Given the description of an element on the screen output the (x, y) to click on. 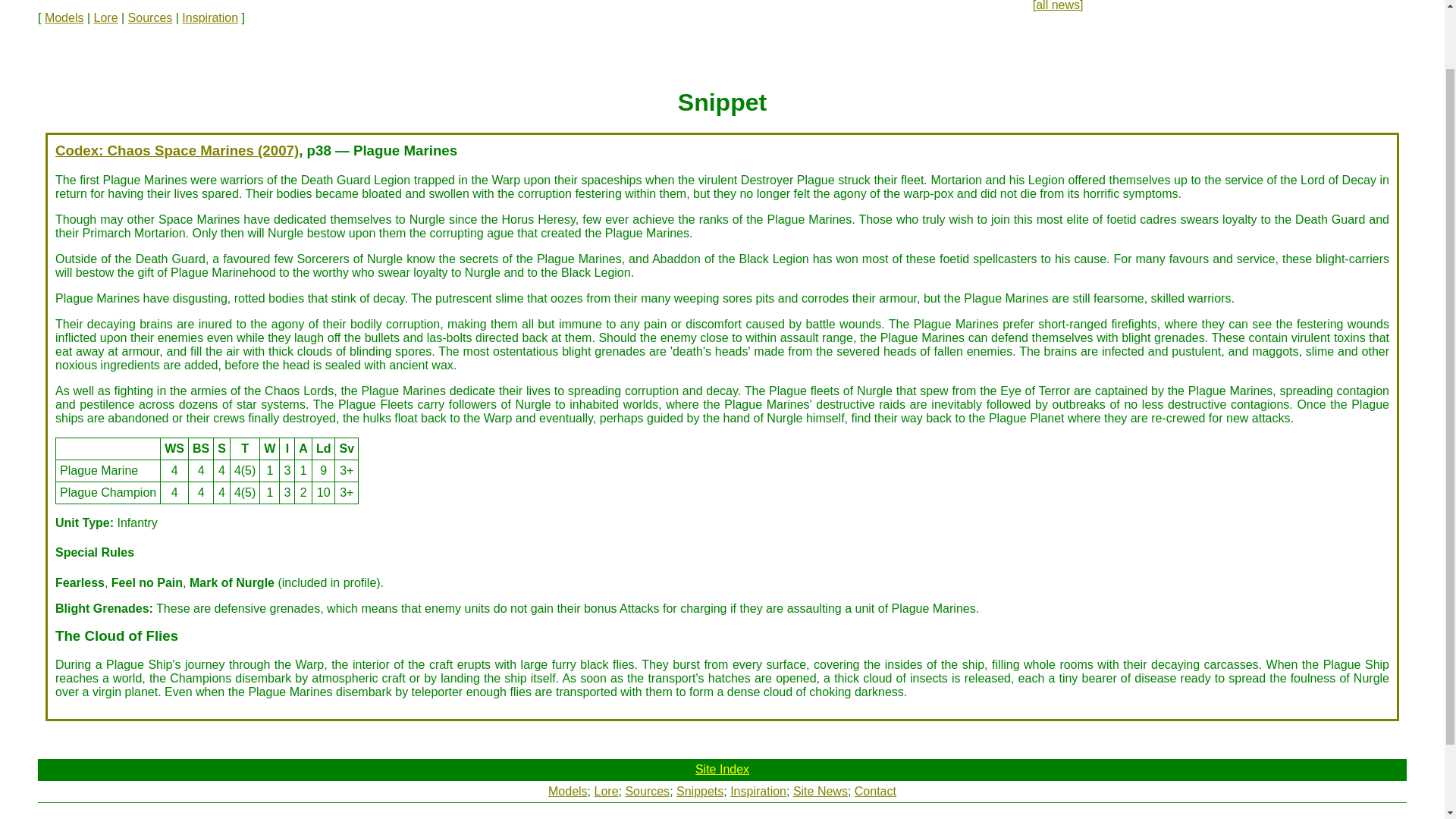
Sources (646, 790)
Sources (150, 17)
Snippets (700, 790)
Inspiration (758, 790)
Site Index (722, 768)
Models (64, 17)
Contact (875, 790)
Lore (105, 17)
Inspiration (210, 17)
Models (568, 790)
Lore (606, 790)
Site News (820, 790)
